Given the description of an element on the screen output the (x, y) to click on. 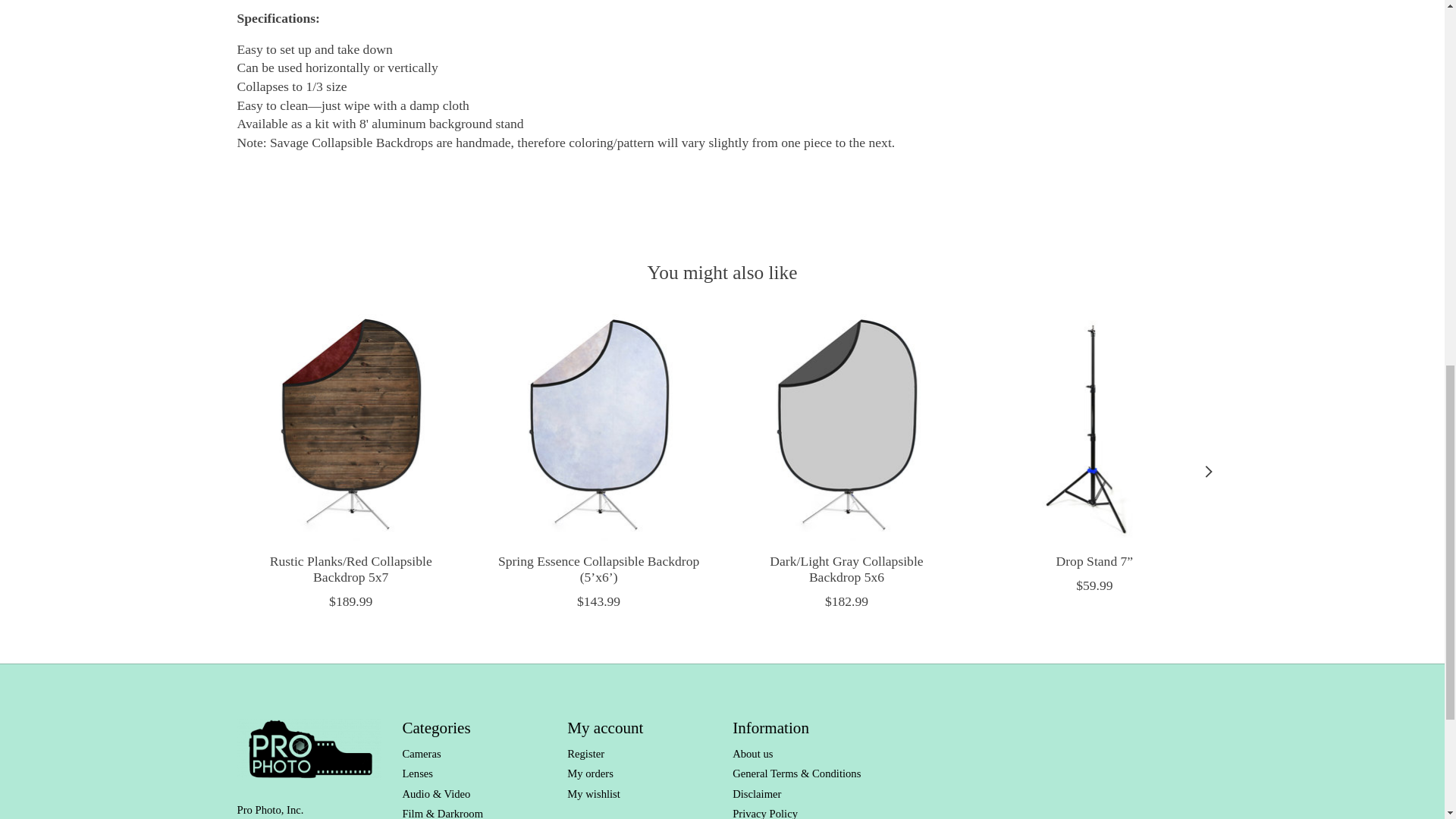
My wishlist (593, 793)
My orders (589, 773)
Privacy Policy (764, 813)
Register (585, 753)
About us (752, 753)
Disclaimer (756, 793)
